Given the description of an element on the screen output the (x, y) to click on. 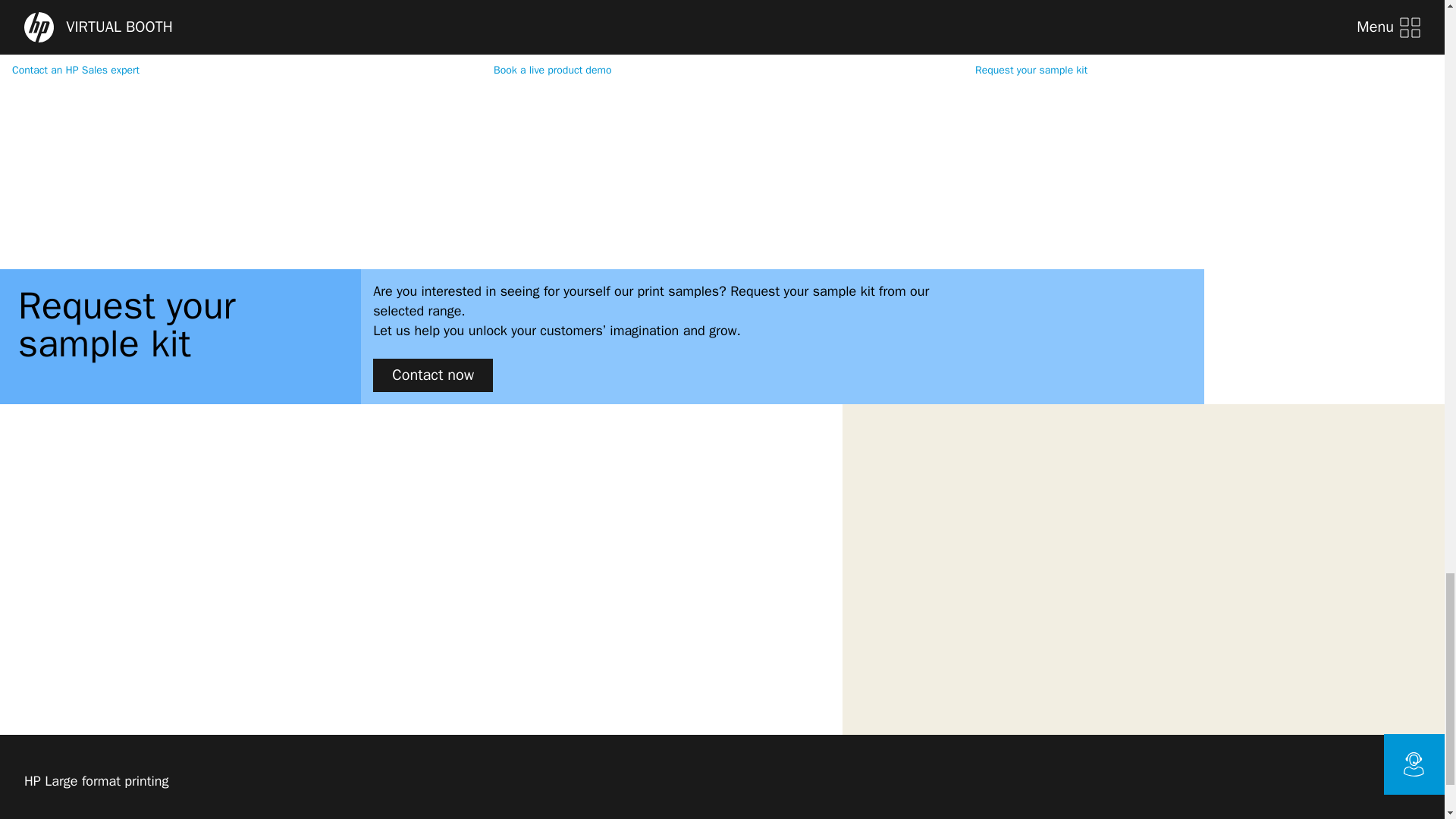
HP Large format printing (99, 782)
Contact now (433, 375)
